Given the description of an element on the screen output the (x, y) to click on. 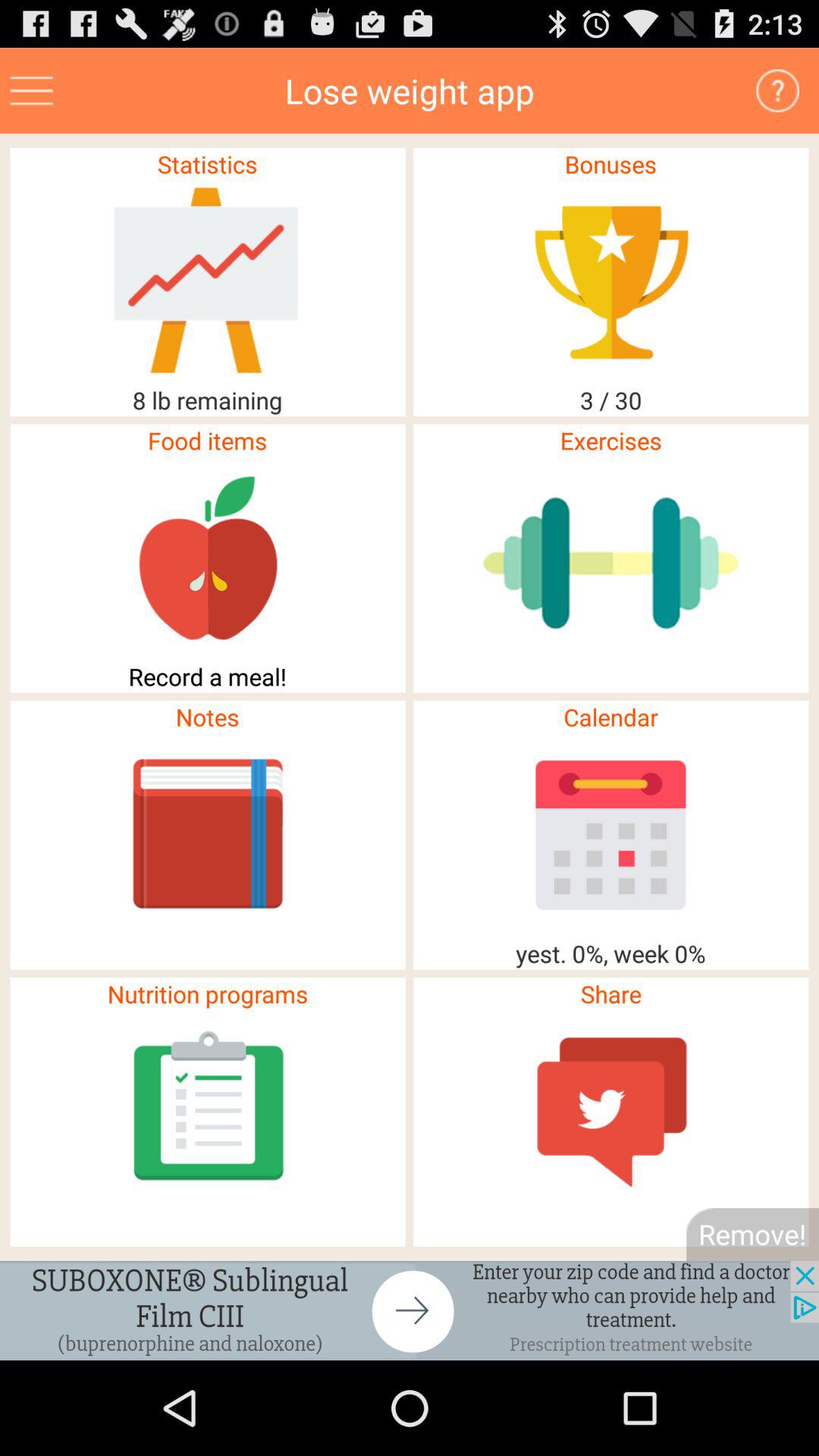
advertisement link (31, 90)
